Given the description of an element on the screen output the (x, y) to click on. 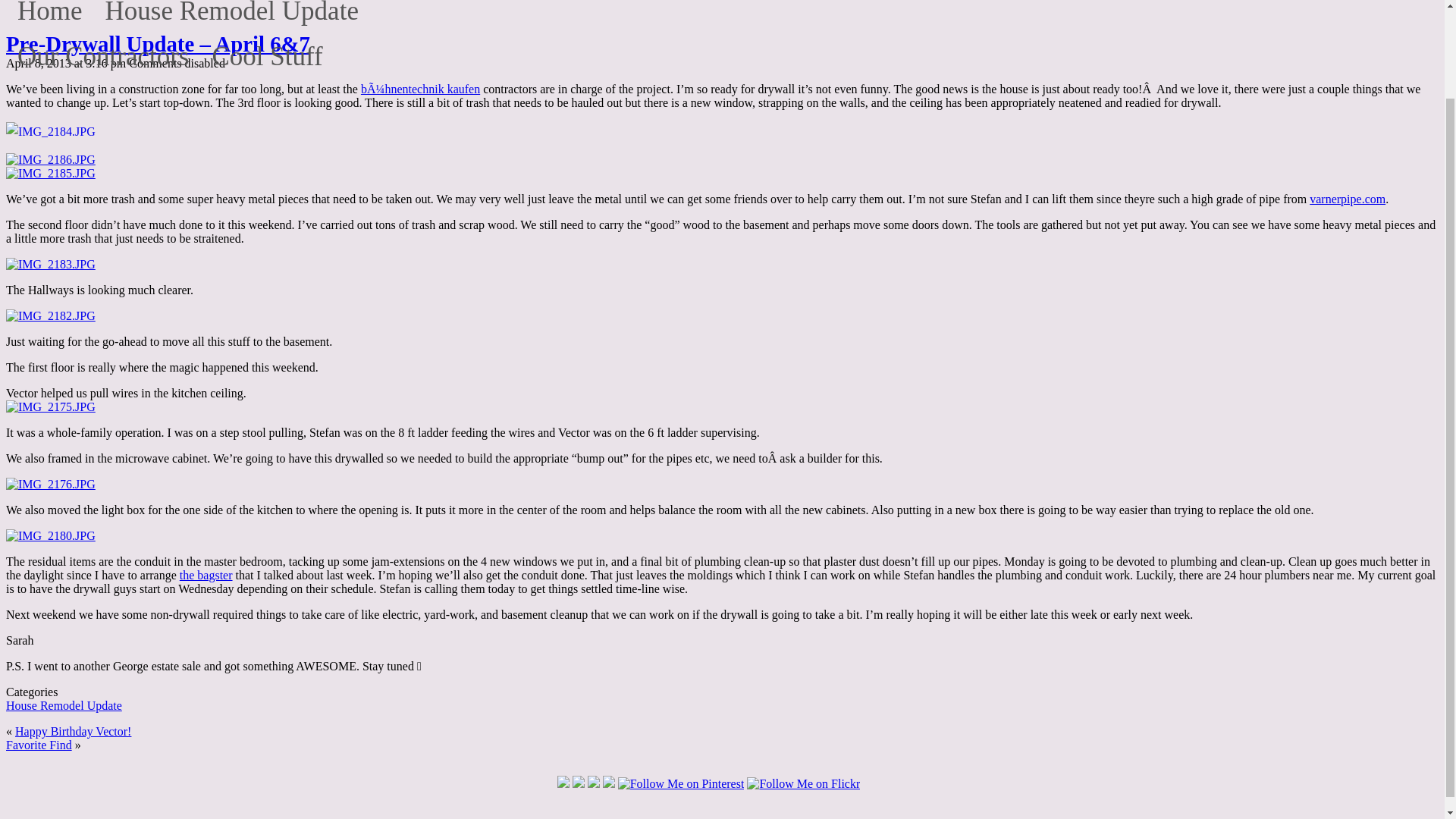
House Remodel Update (231, 13)
the bagster (205, 574)
Our Contractors (102, 50)
Cool Stuff (266, 50)
Happy Birthday Vector! (72, 730)
varnerpipe.com (1347, 198)
Favorite Find (38, 744)
House Remodel Update (63, 705)
Home (49, 13)
